Given the description of an element on the screen output the (x, y) to click on. 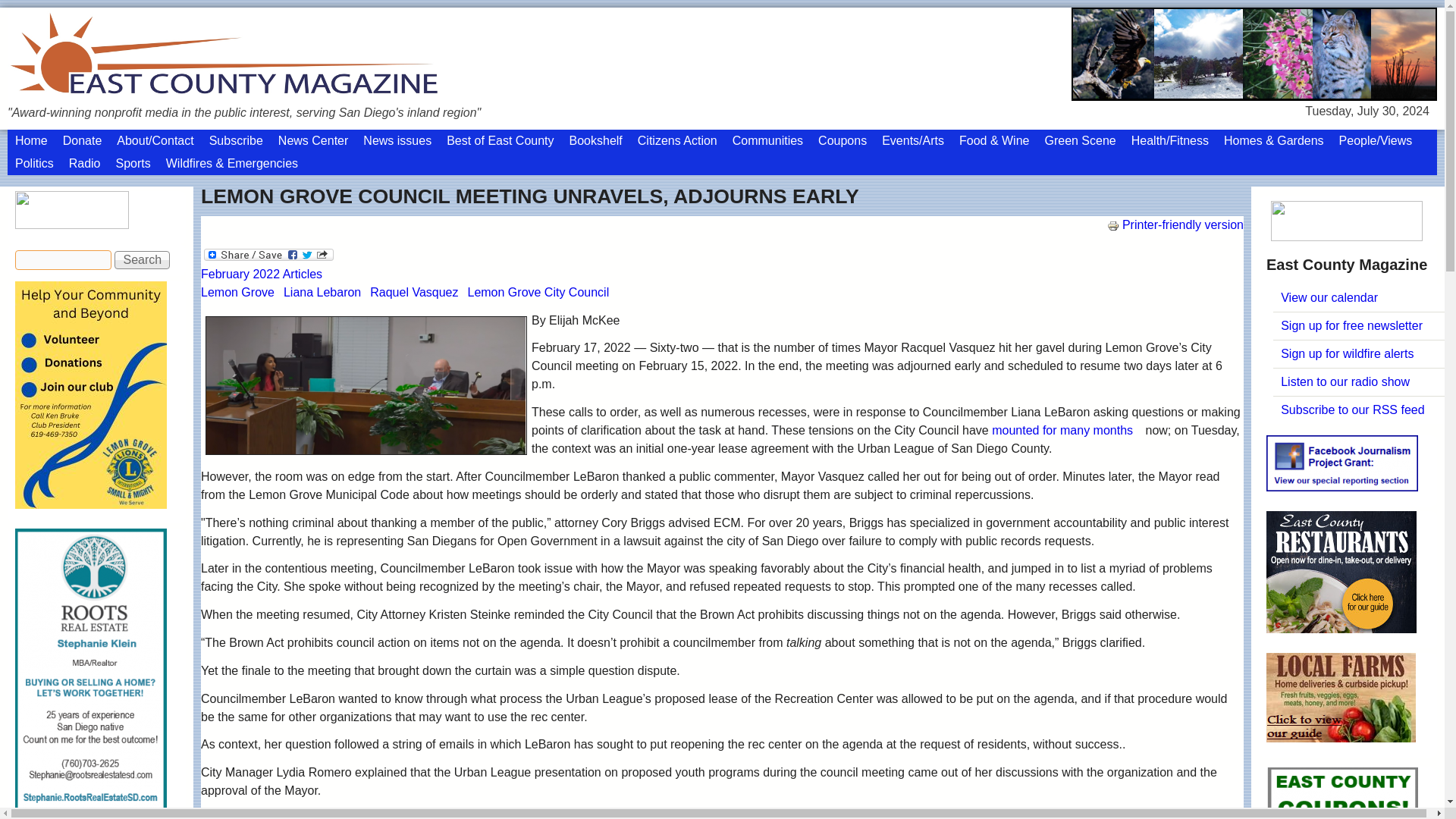
Best of East County (499, 140)
Home (31, 140)
Search (142, 259)
Subscribe (236, 140)
News Center (312, 140)
Donate (82, 140)
News issues (397, 140)
